Given the description of an element on the screen output the (x, y) to click on. 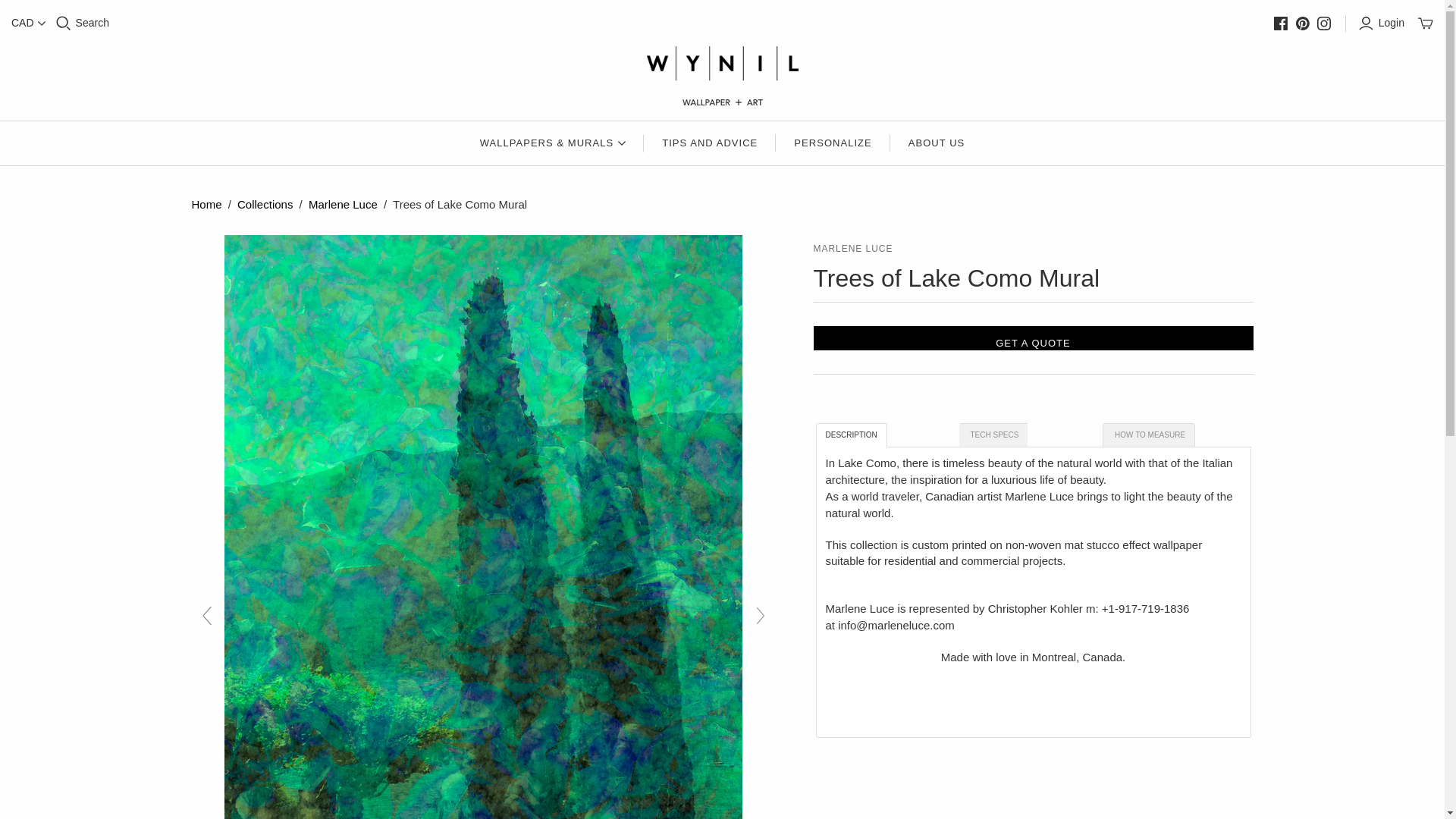
PERSONALIZE (832, 143)
Page 8 (1032, 584)
TIPS AND ADVICE (709, 143)
Login (1383, 22)
ABOUT US (936, 143)
